Given the description of an element on the screen output the (x, y) to click on. 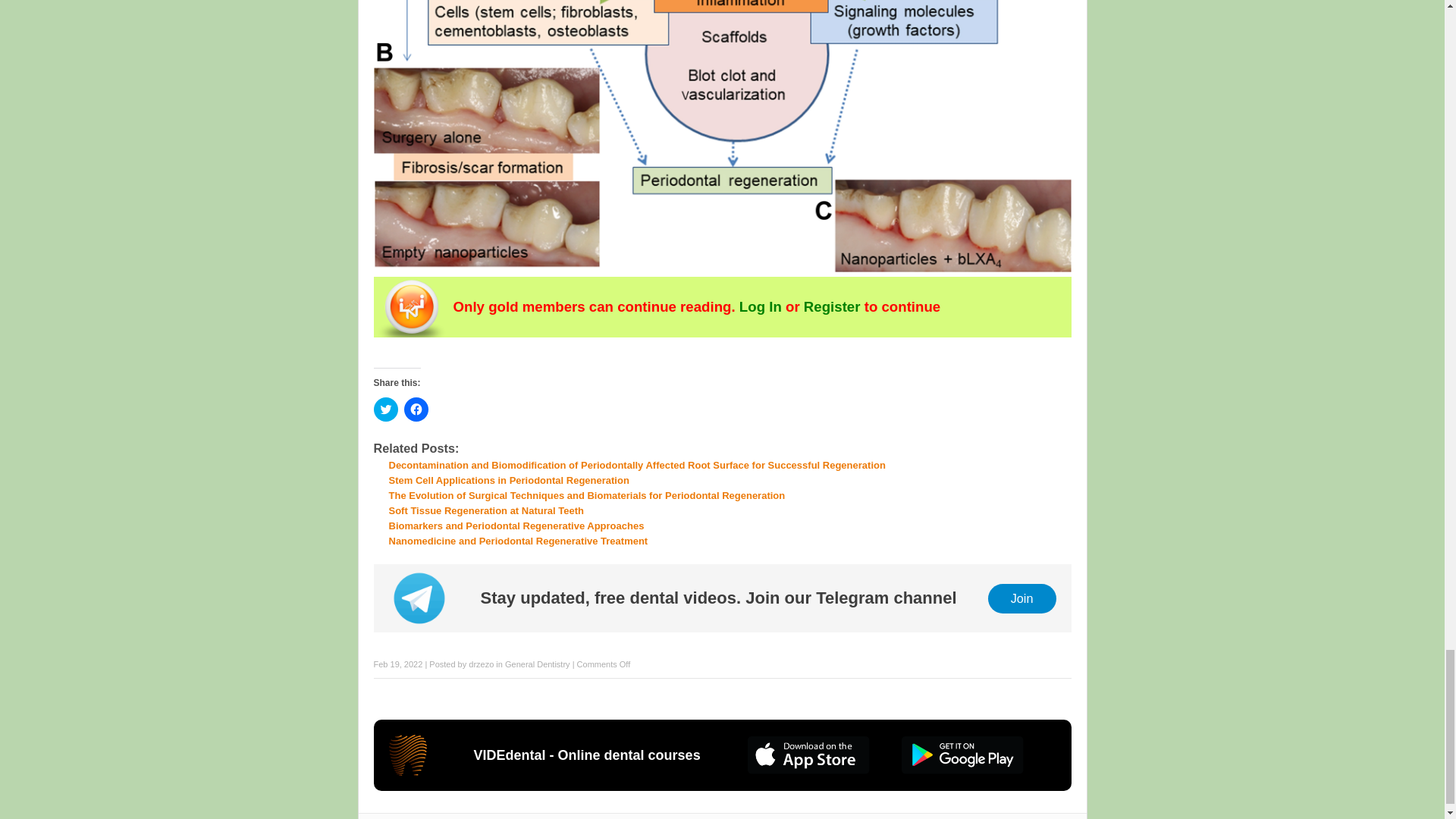
Click to share on Facebook (415, 409)
Biomarkers and Periodontal Regenerative Approaches (515, 525)
Nanomedicine and Periodontal Regenerative Treatment (517, 541)
Click to share on Twitter (384, 409)
Stem Cell Applications in Periodontal Regeneration (508, 480)
Soft Tissue Regeneration at Natural Teeth (485, 510)
Posts by drzezo (480, 664)
